Given the description of an element on the screen output the (x, y) to click on. 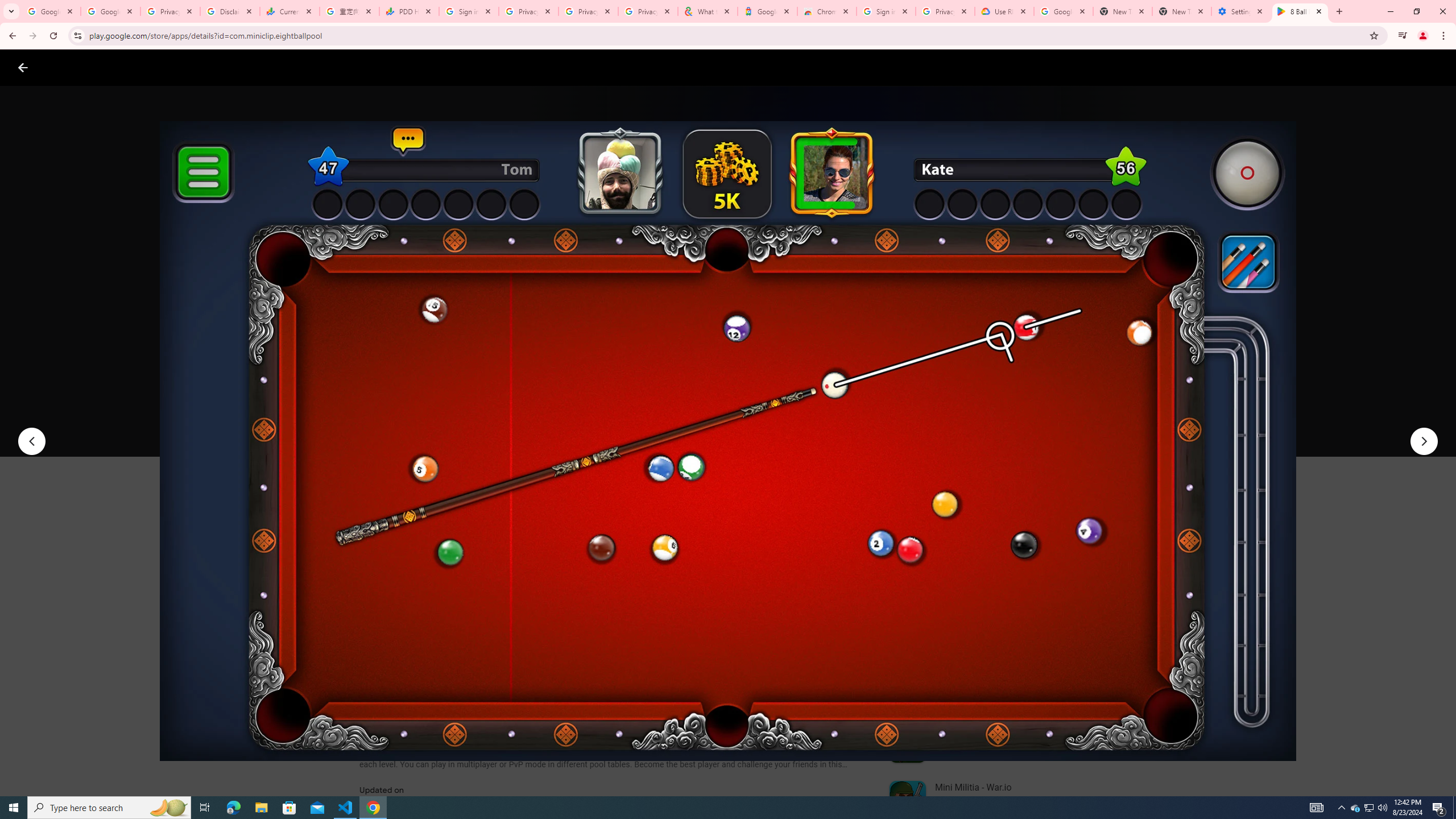
Google Play logo (64, 67)
Apps (182, 67)
Install (416, 423)
Kids (219, 67)
Close screenshot viewer (22, 67)
Currencies - Google Finance (289, 11)
Miniclip.com (386, 333)
Previous (31, 441)
Google (767, 11)
Settings - System (1241, 11)
See more information on About this game (472, 681)
New Tab (1182, 11)
